Given the description of an element on the screen output the (x, y) to click on. 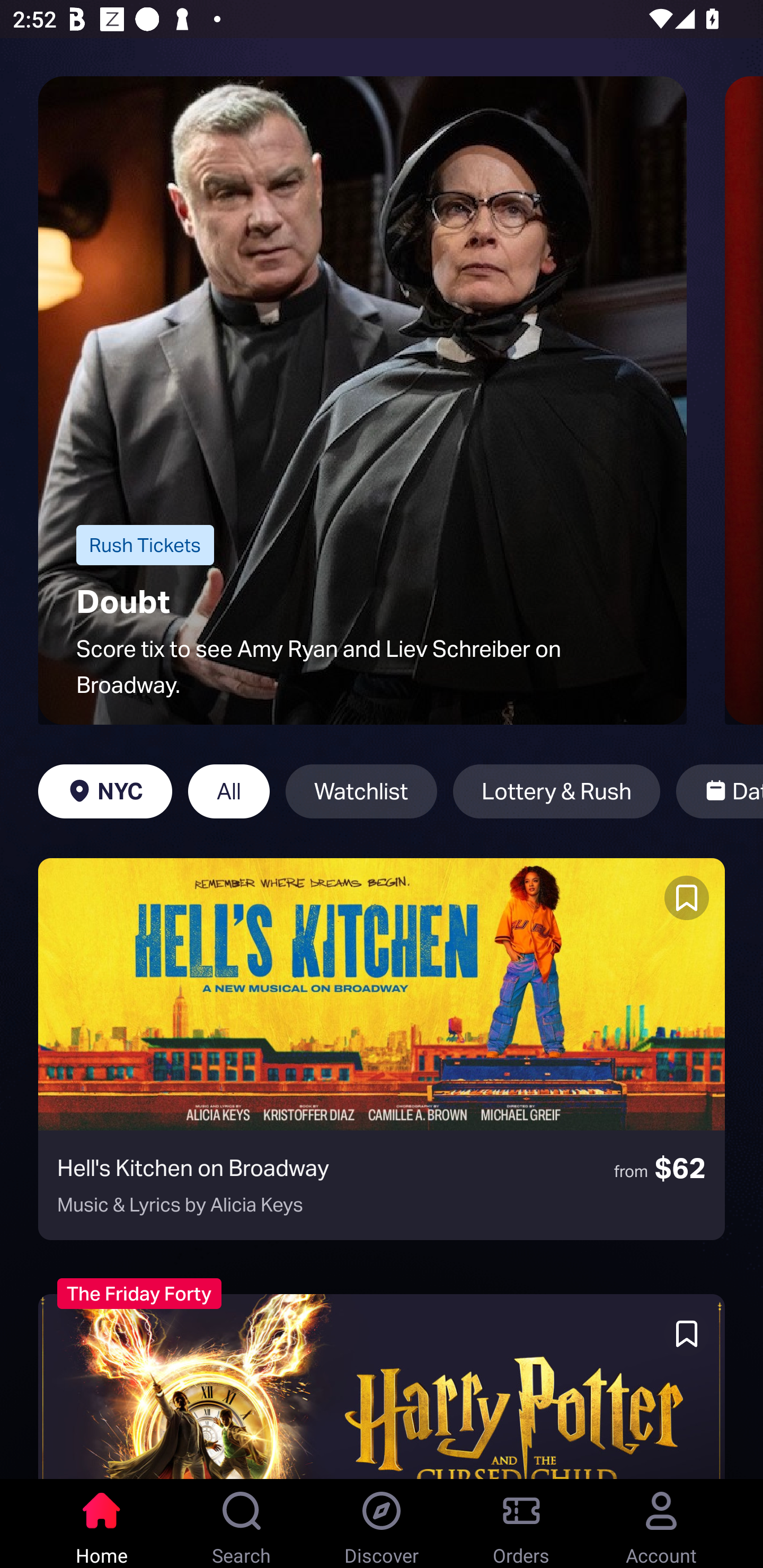
NYC (105, 791)
All (228, 791)
Watchlist (361, 791)
Lottery & Rush (556, 791)
Search (241, 1523)
Discover (381, 1523)
Orders (521, 1523)
Account (660, 1523)
